Given the description of an element on the screen output the (x, y) to click on. 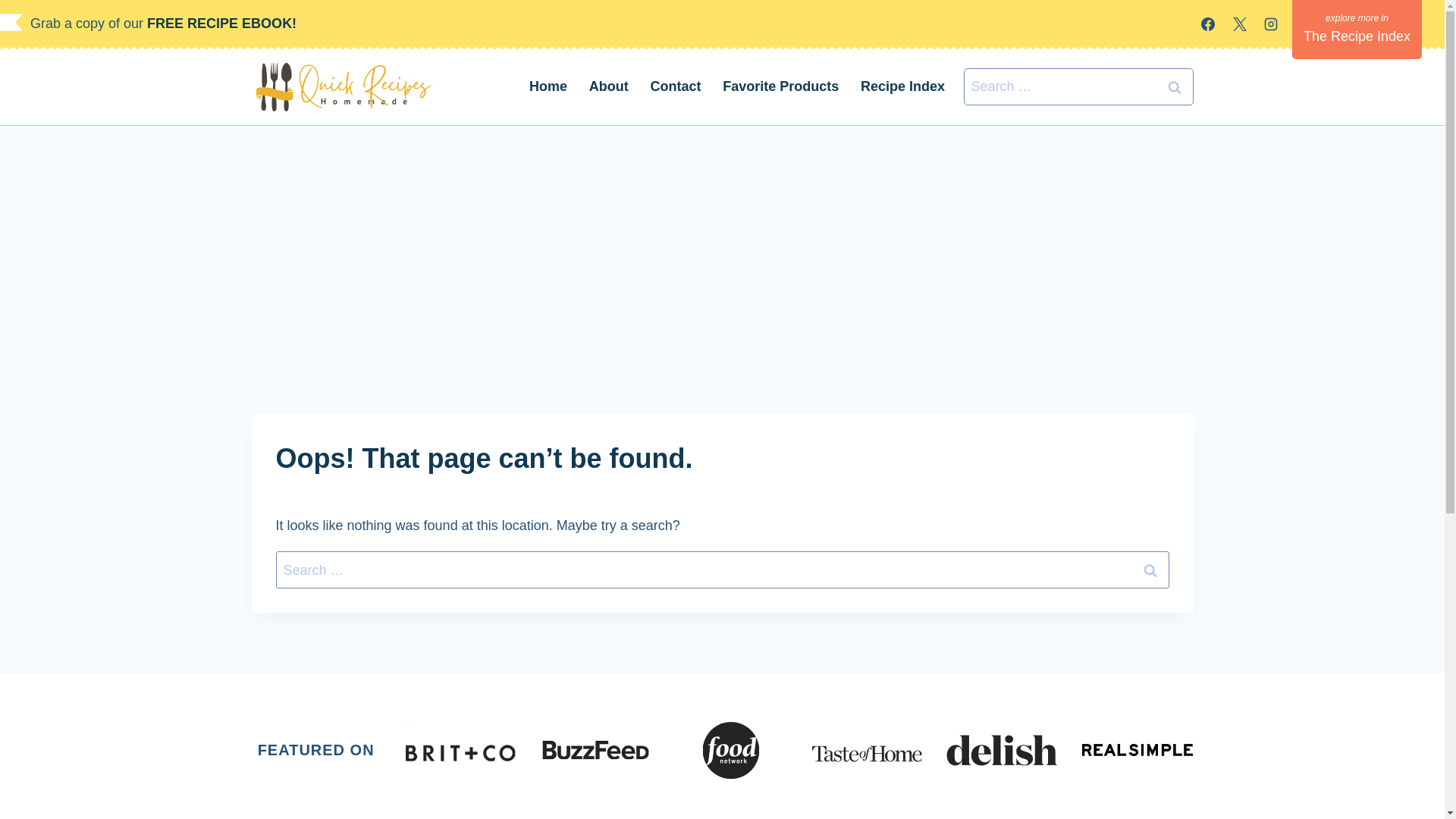
The Recipe Index (1357, 29)
About (608, 86)
Favorite Products (780, 86)
Recipe Index (903, 86)
FREE RECIPE EBOOK!   (225, 23)
Search (1174, 86)
Search (1150, 569)
Home (548, 86)
Search (1150, 569)
Contact (675, 86)
Search (1174, 86)
Search (1174, 86)
Search (1150, 569)
